Given the description of an element on the screen output the (x, y) to click on. 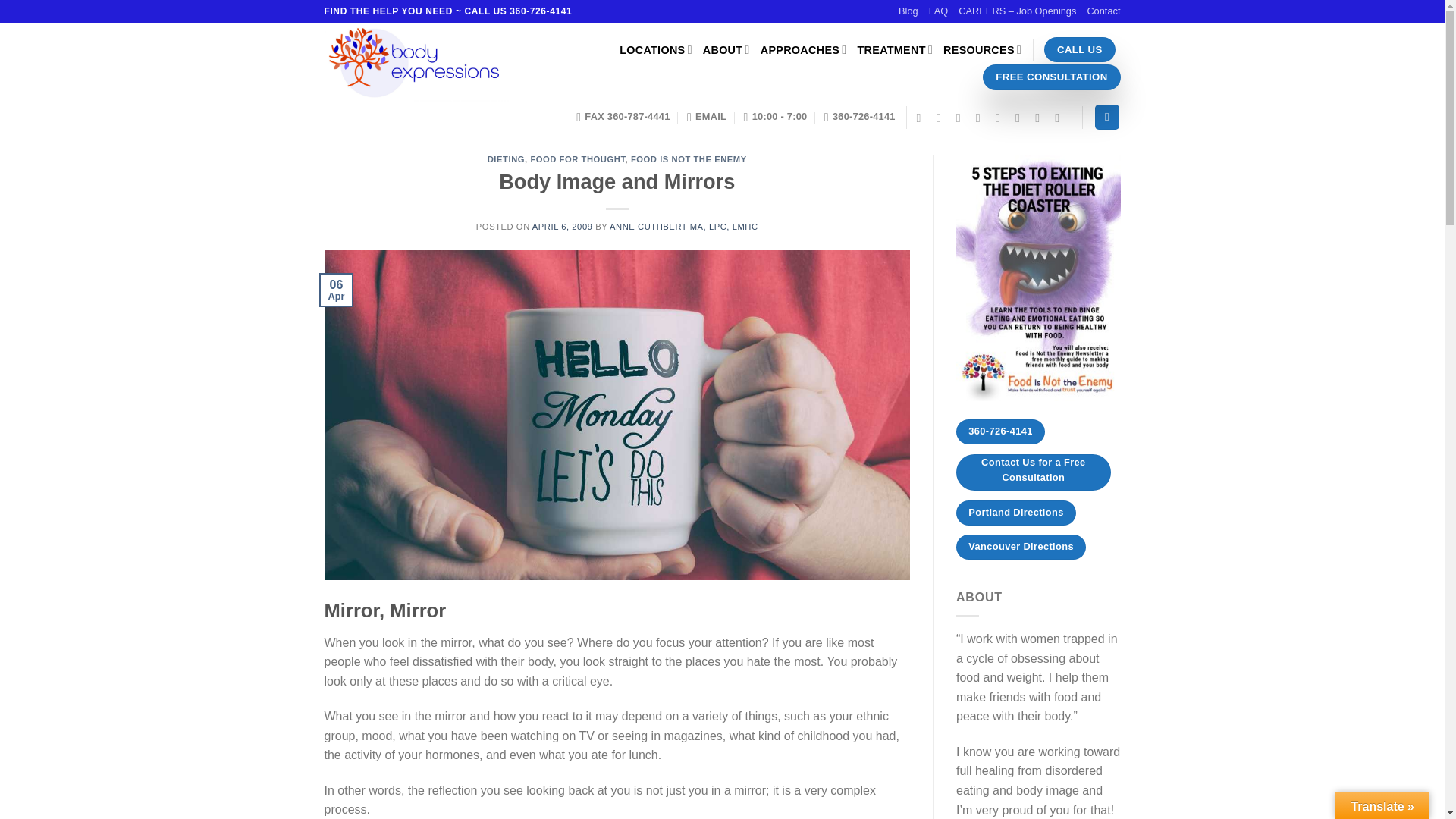
Follow on Twitter (962, 117)
Send us an email (981, 117)
Contact (1102, 11)
Call us (1001, 117)
ABOUT (726, 49)
Follow on Facebook (922, 117)
Follow on Instagram (942, 117)
LOCATIONS (656, 49)
360-787-4441 (622, 116)
360-726-4141 (859, 116)
10:00 - 7:00  (776, 116)
